Given the description of an element on the screen output the (x, y) to click on. 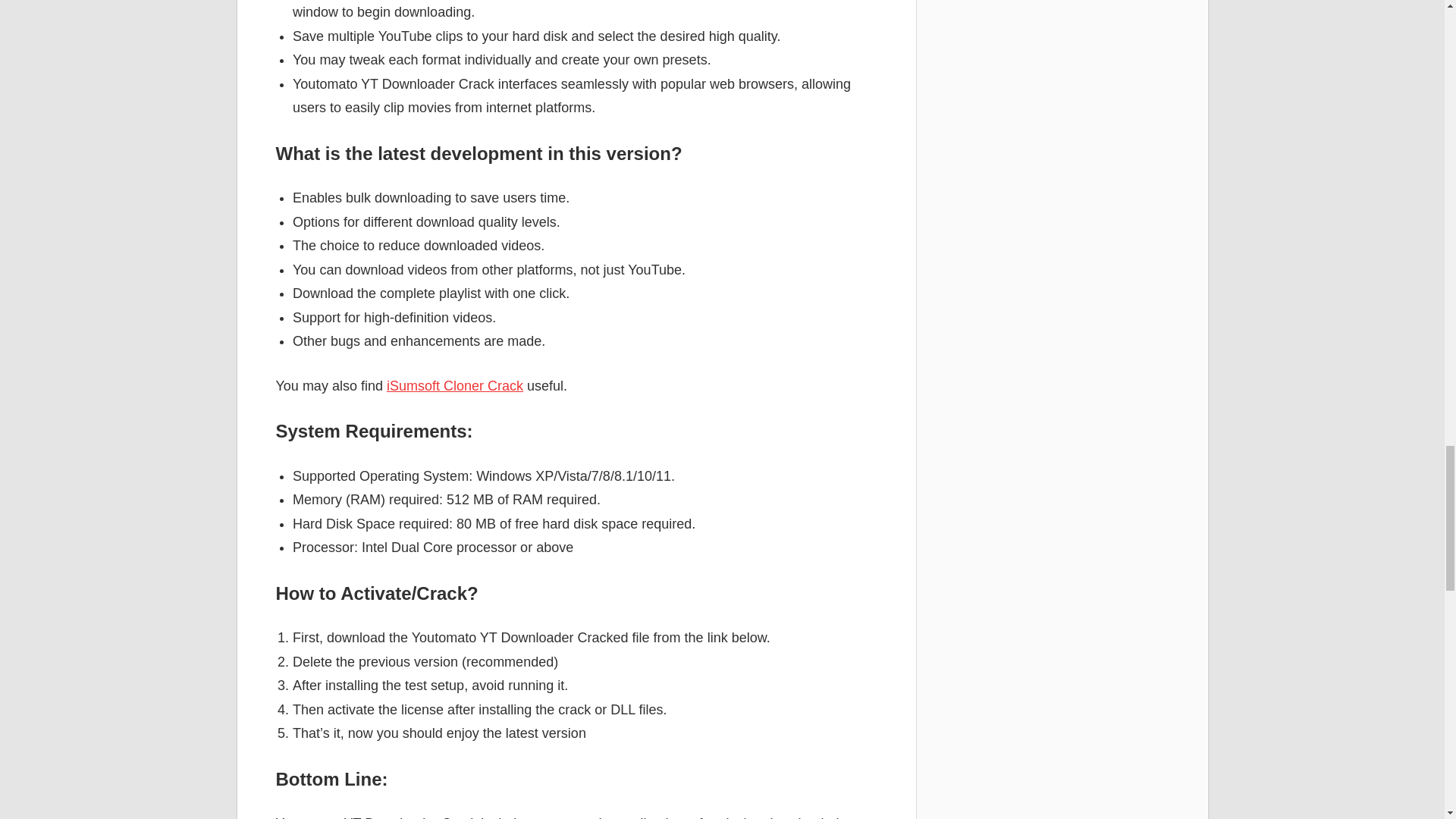
iSumsoft Cloner Crack (454, 385)
